Given the description of an element on the screen output the (x, y) to click on. 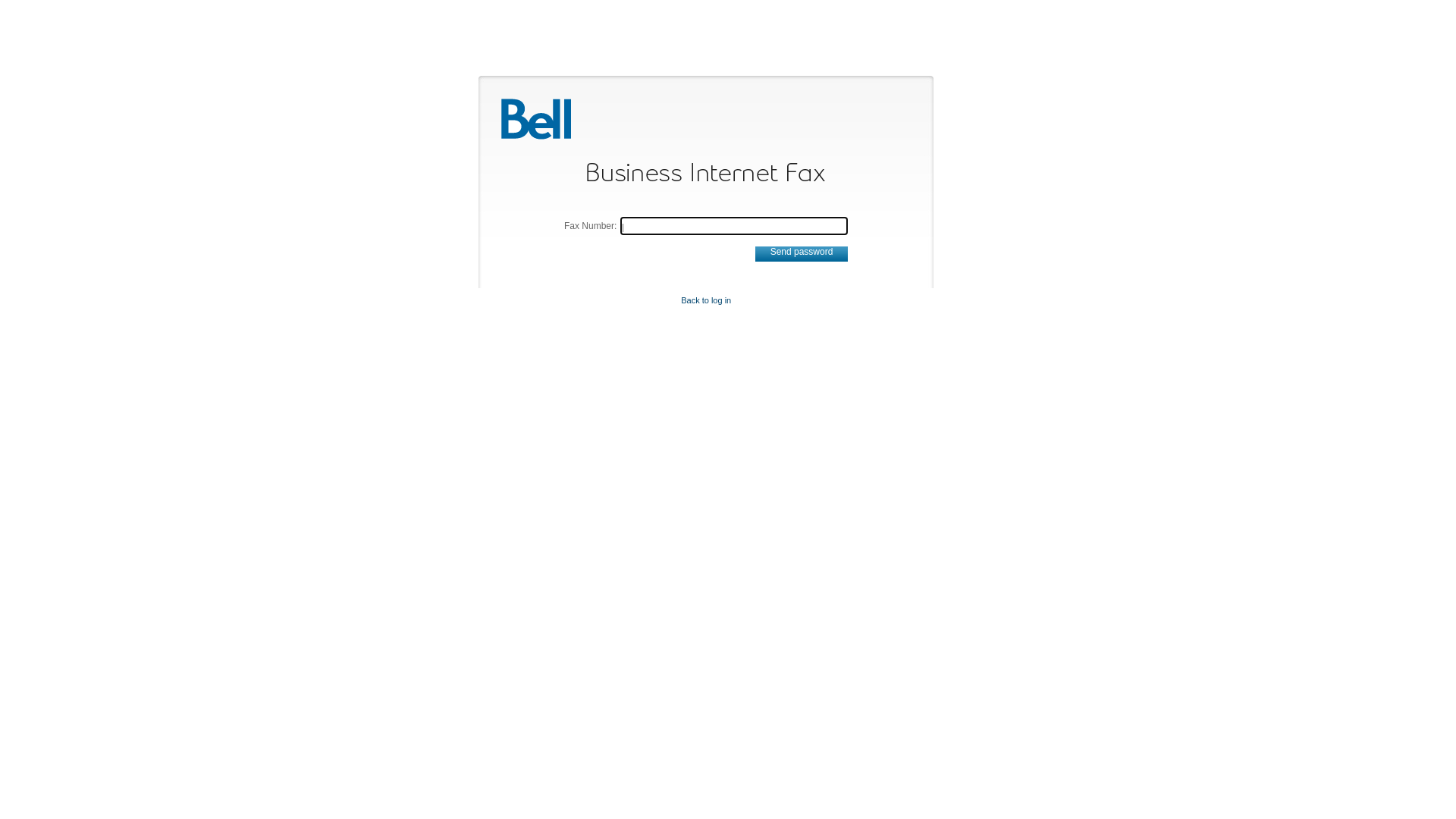
Back to log in Element type: text (705, 299)
Send password Element type: text (801, 253)
